Given the description of an element on the screen output the (x, y) to click on. 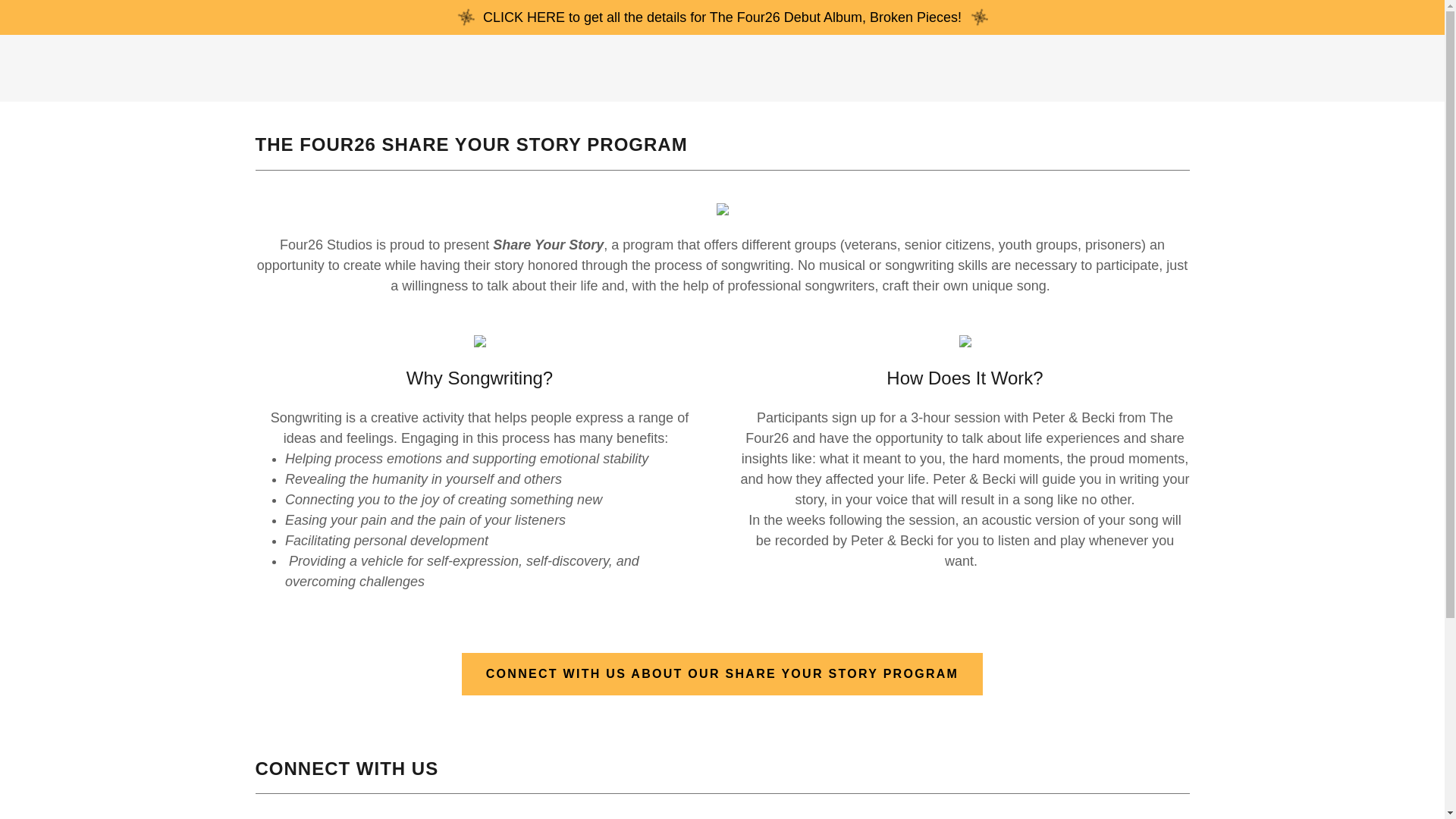
CONNECT WITH US ABOUT OUR SHARE YOUR STORY PROGRAM (721, 673)
